Given the description of an element on the screen output the (x, y) to click on. 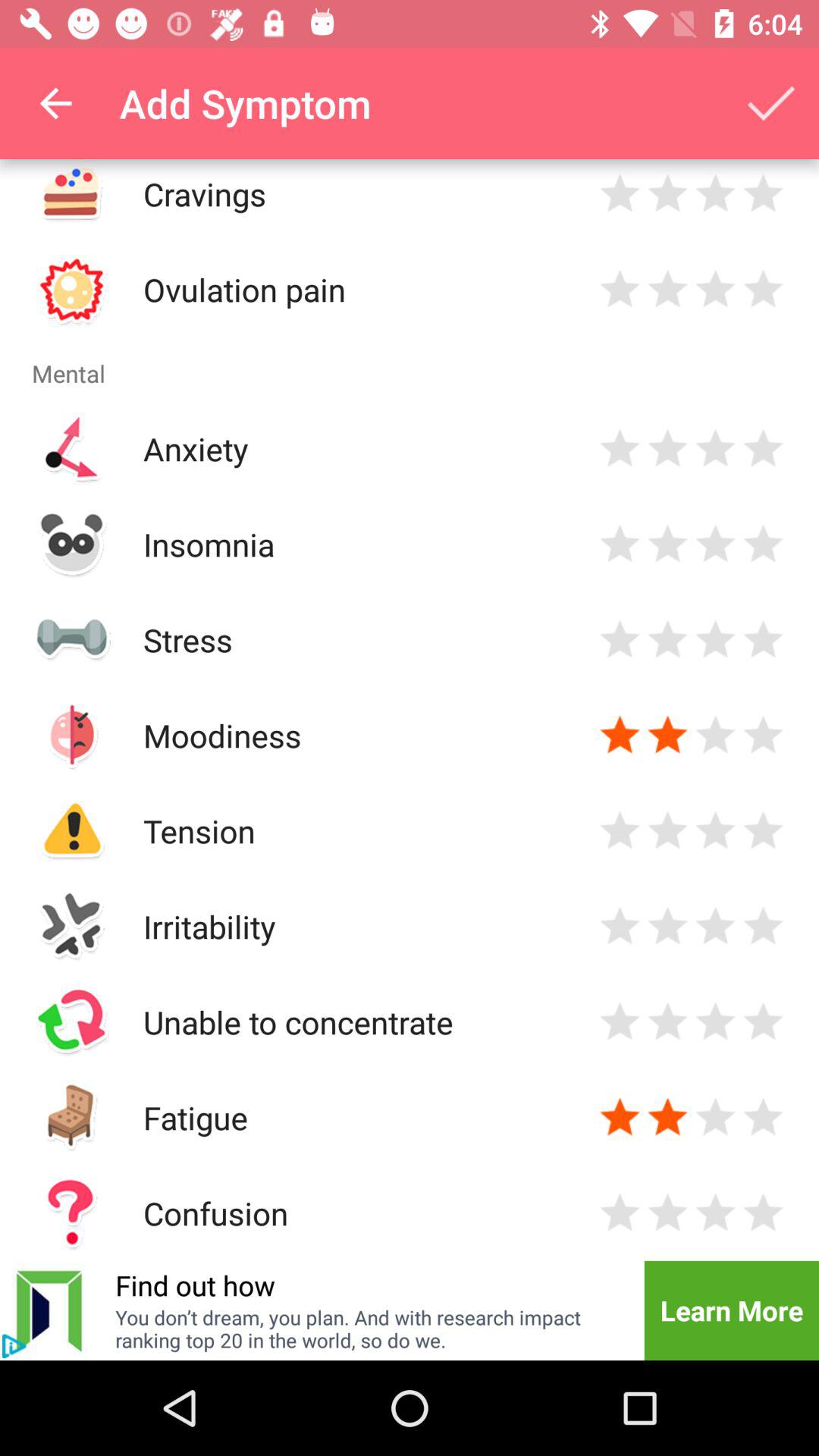
rate your insomnia level (715, 544)
